Given the description of an element on the screen output the (x, y) to click on. 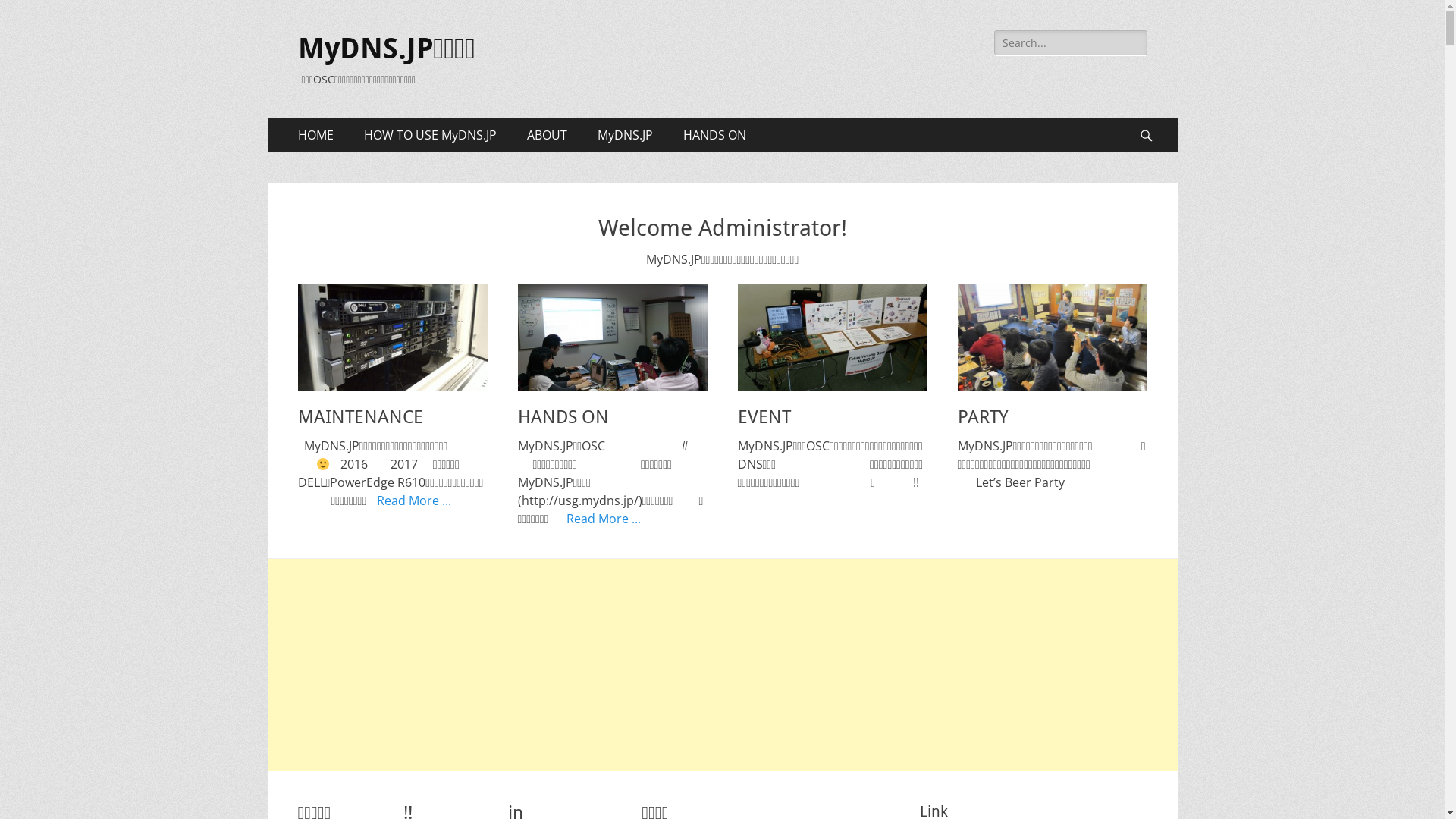
EVENT Element type: text (763, 416)
PARTY Element type: text (982, 416)
HANDS ON Element type: hover (611, 336)
Read More ... Element type: text (413, 500)
MyDNS.JP Element type: text (625, 134)
EVENT Element type: hover (831, 336)
PARTY Element type: hover (1051, 336)
Read More ... Element type: text (603, 518)
ABOUT Element type: text (546, 134)
HOME Element type: text (315, 134)
Advertisement Element type: hover (721, 664)
HANDS ON Element type: text (713, 134)
HANDS ON Element type: text (562, 416)
MAINTENANCE Element type: text (359, 416)
HOW TO USE MyDNS.JP Element type: text (429, 134)
MAINTENANCE Element type: hover (391, 336)
